Given the description of an element on the screen output the (x, y) to click on. 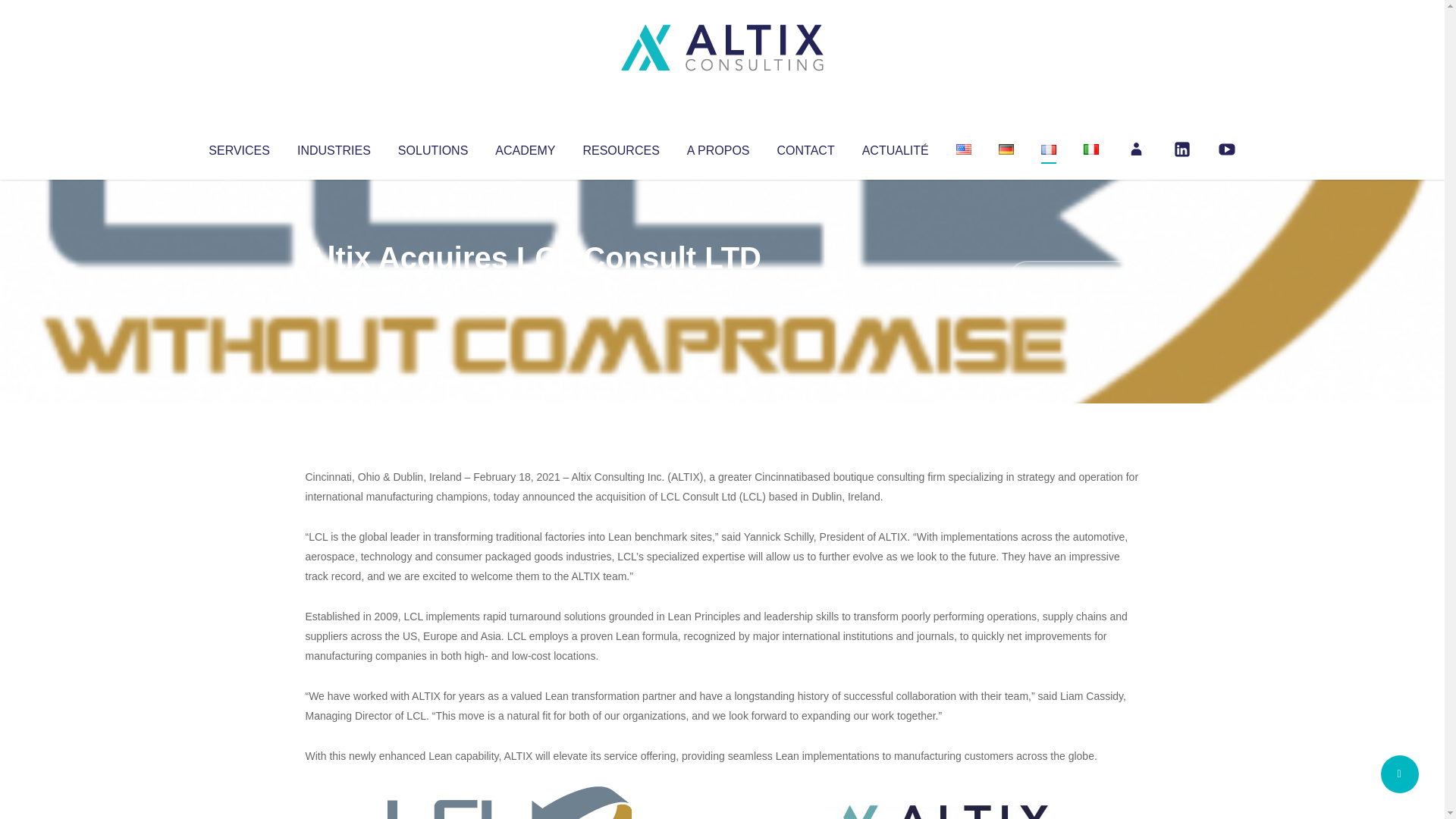
No Comments (1073, 278)
ACADEMY (524, 146)
SERVICES (238, 146)
A PROPOS (718, 146)
INDUSTRIES (334, 146)
Articles par Altix (333, 287)
RESOURCES (620, 146)
Uncategorized (530, 287)
Altix (333, 287)
SOLUTIONS (432, 146)
